Given the description of an element on the screen output the (x, y) to click on. 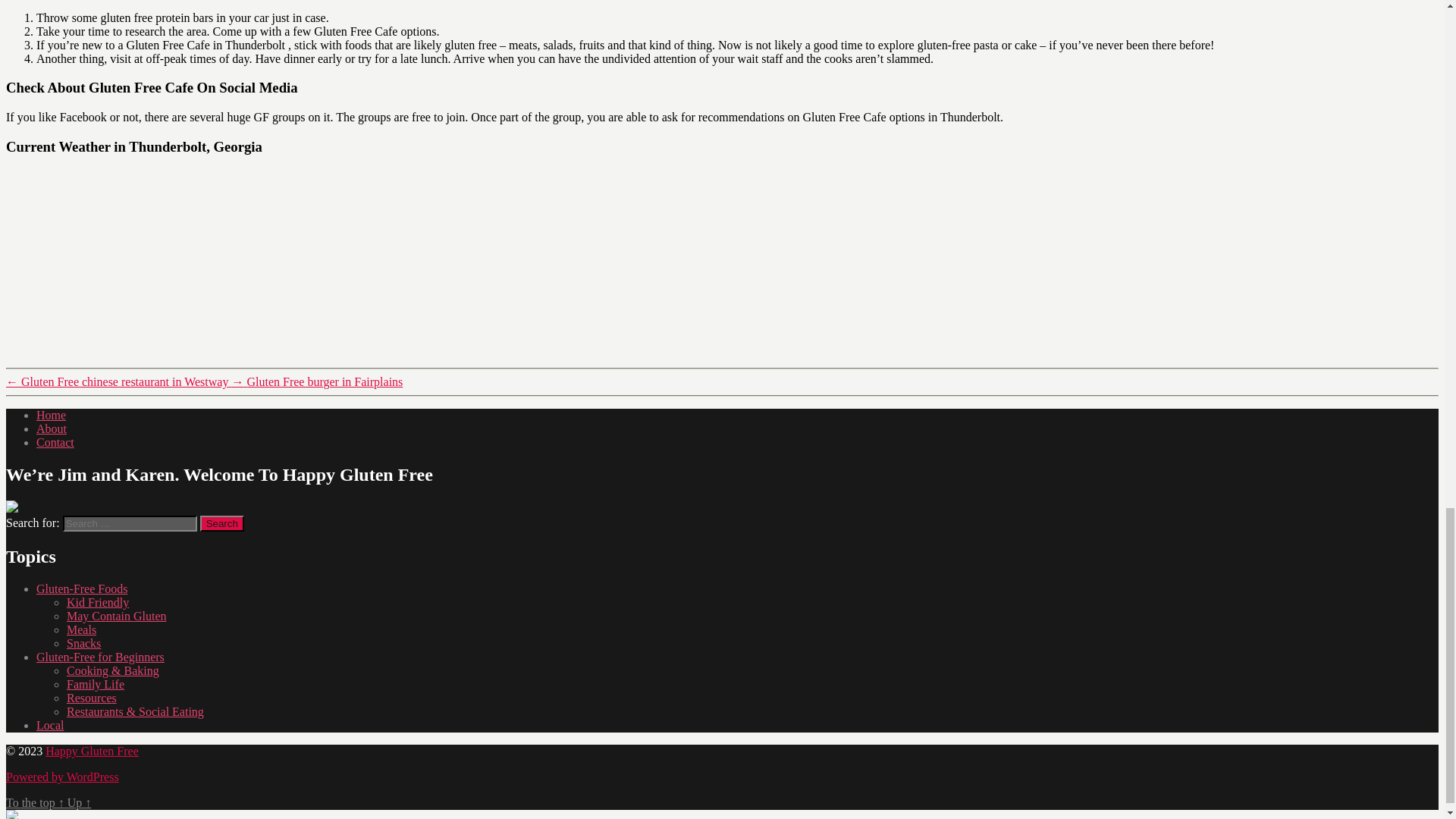
Search (222, 523)
gluten-free for beginners. (100, 656)
Contact (55, 441)
Search (222, 523)
gluten-free meals category (81, 629)
